Given the description of an element on the screen output the (x, y) to click on. 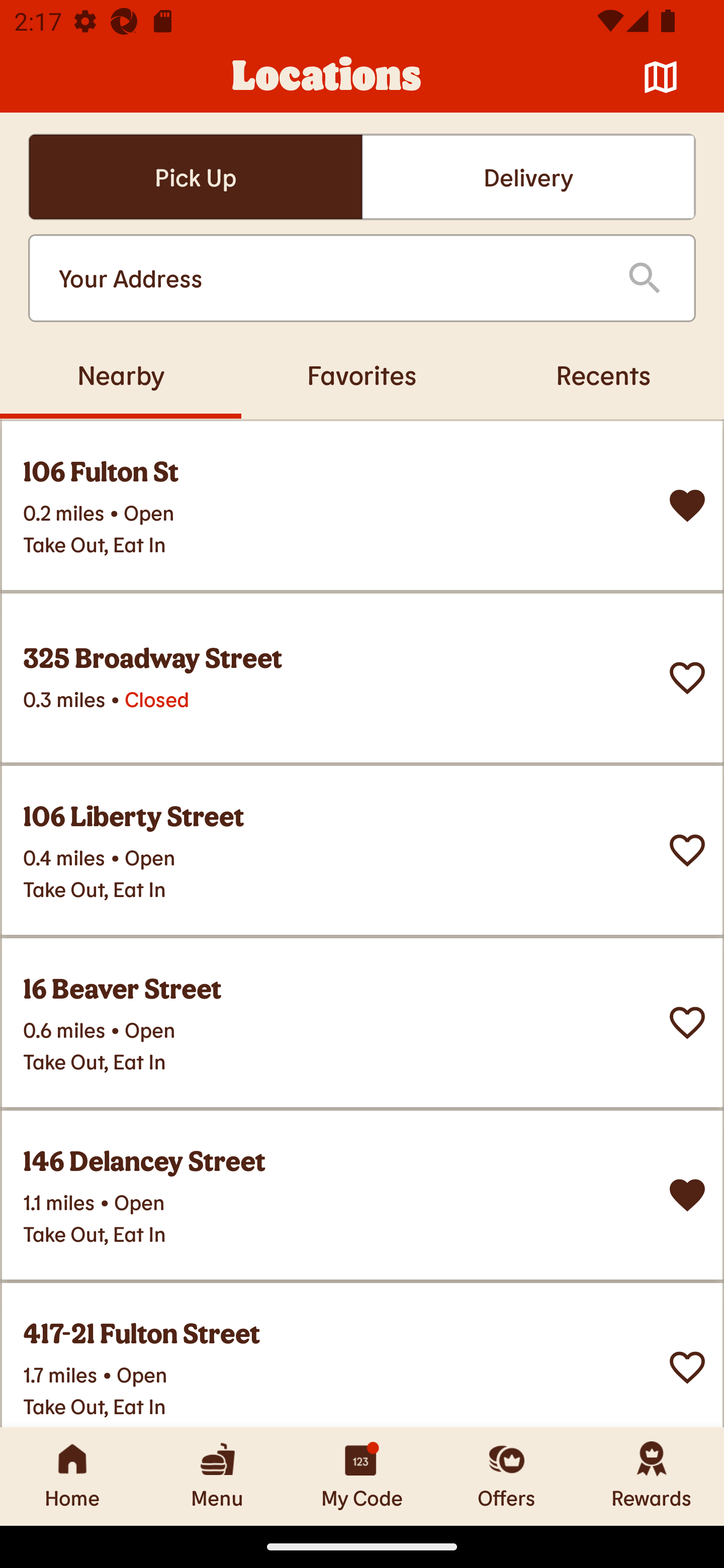
Map 󰦂 (660, 77)
Locations (326, 77)
Pick UpSelected Pick UpSelected Pick Up (195, 176)
Delivery Delivery Delivery (528, 176)
Your Address (327, 277)
Nearby (120, 374)
Favorites (361, 374)
Recents (603, 374)
Remove from Favorites?  (687, 505)
Set this restaurant as a favorite  (687, 677)
Set this restaurant as a favorite  (687, 850)
Set this restaurant as a favorite  (687, 1022)
Remove from Favorites?  (687, 1195)
Set this restaurant as a favorite  (687, 1367)
Home (72, 1475)
Menu (216, 1475)
My Code (361, 1475)
Offers (506, 1475)
Rewards (651, 1475)
